Given the description of an element on the screen output the (x, y) to click on. 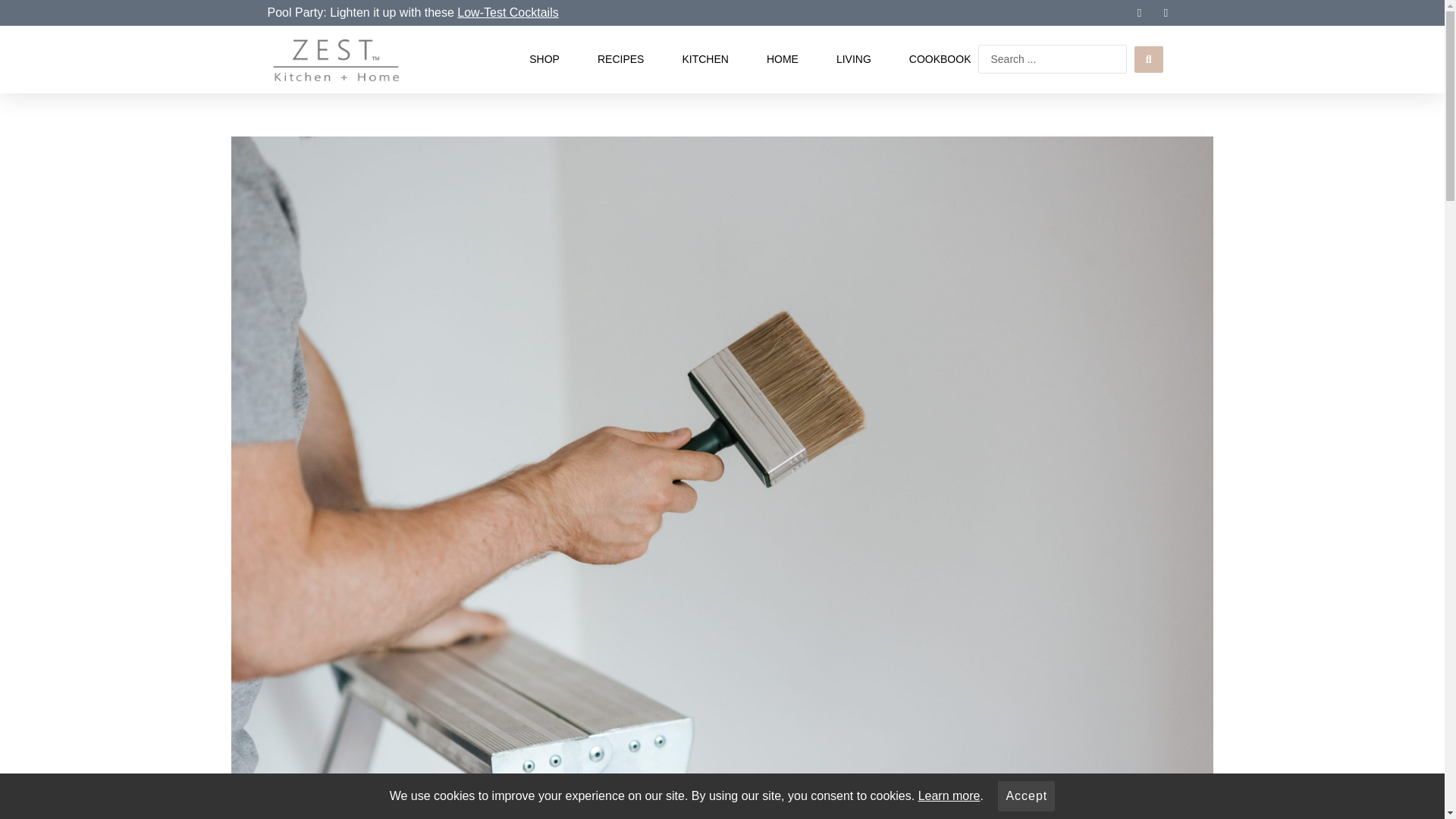
LIVING (852, 58)
HOME (782, 58)
Low-Test Cocktails (507, 11)
RECIPES (619, 58)
Instagram (1165, 12)
COOKBOOK (939, 58)
KITCHEN (704, 58)
Facebook (1139, 12)
